Given the description of an element on the screen output the (x, y) to click on. 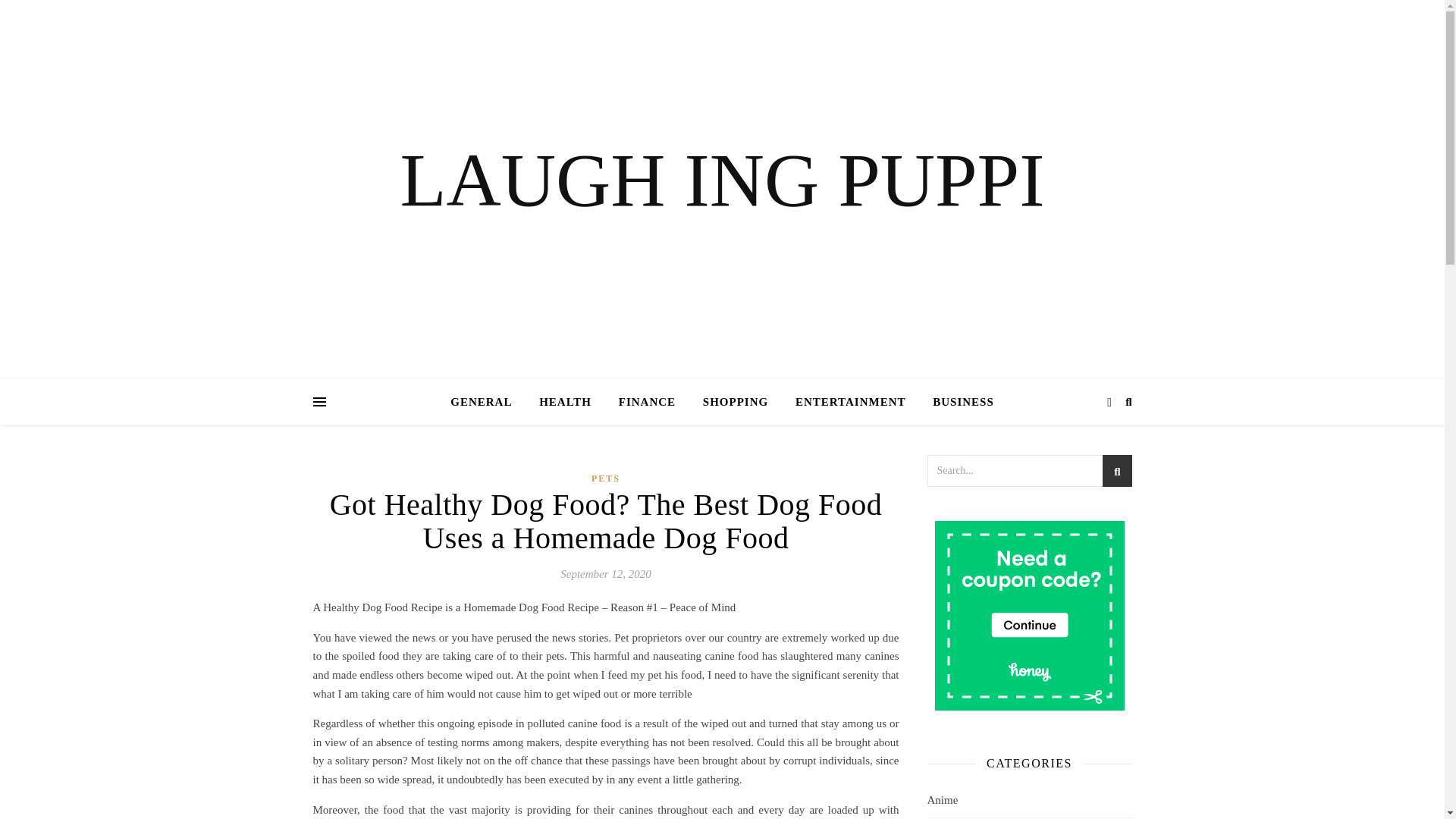
BUSINESS (957, 402)
FINANCE (647, 402)
Anime (942, 799)
Applications (955, 818)
ENTERTAINMENT (850, 402)
PETS (605, 478)
SHOPPING (735, 402)
GENERAL (486, 402)
HEALTH (565, 402)
